Given the description of an element on the screen output the (x, y) to click on. 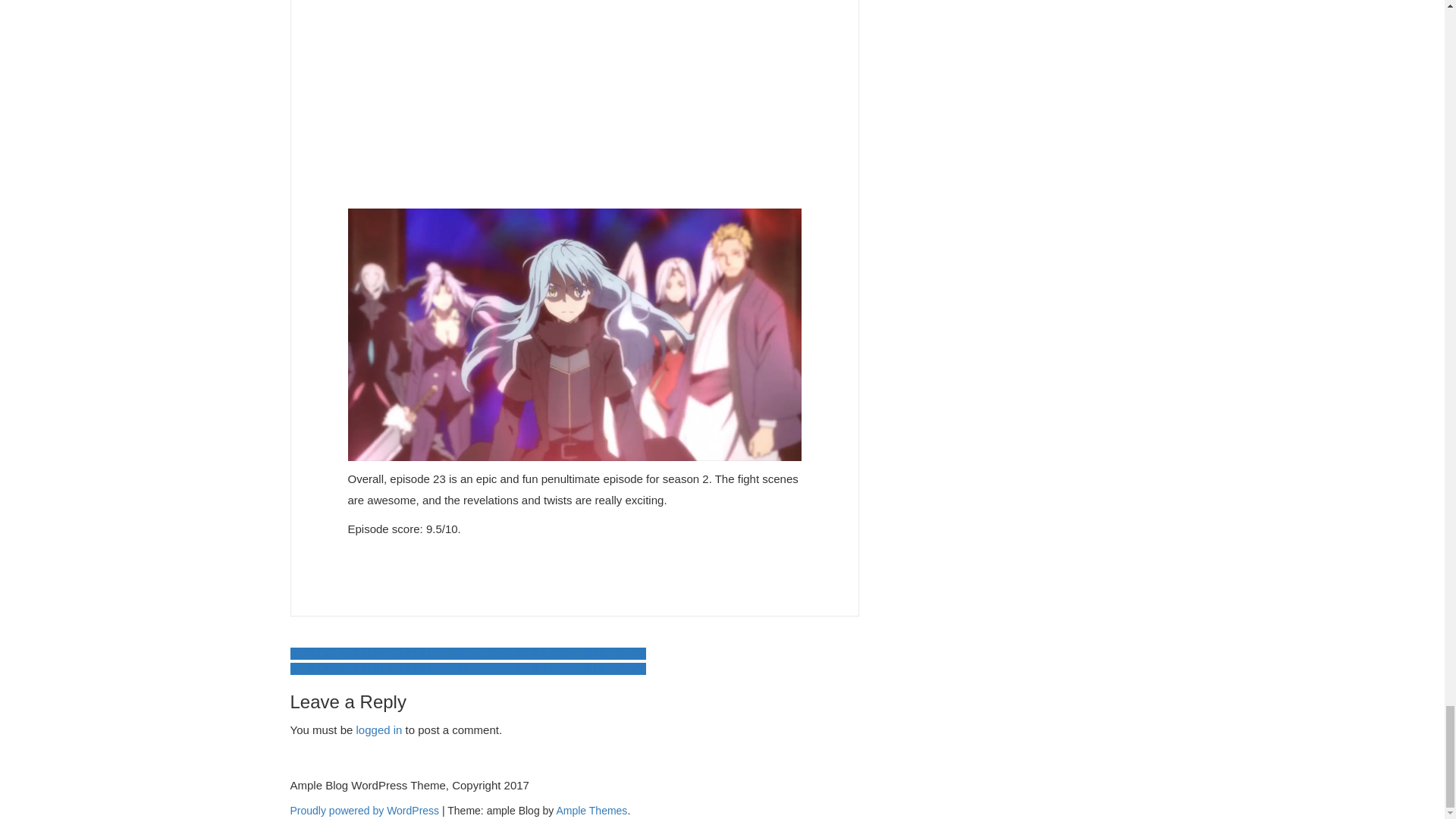
logged in (379, 729)
THE HONOR STUDENT AT MAGIC HIGH SCHOOL EPISODE 12 REVIEW (467, 668)
THE HONOR STUDENT AT MAGIC HIGH SCHOOL EPISODE 11 REVIEW (467, 653)
